Given the description of an element on the screen output the (x, y) to click on. 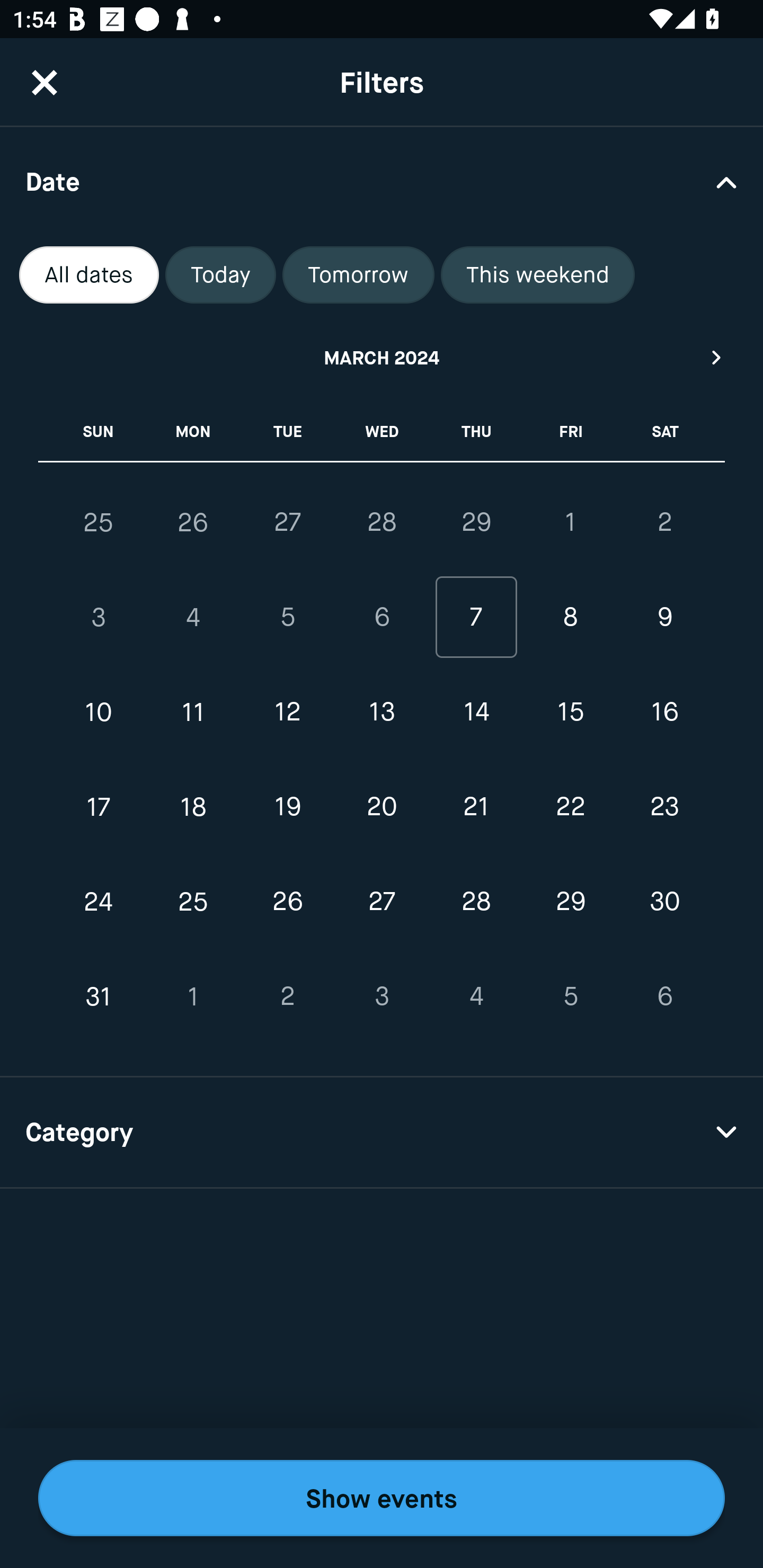
CloseButton (44, 82)
Date Drop Down Arrow (381, 181)
All dates (88, 274)
Today (220, 274)
Tomorrow (358, 274)
This weekend (537, 274)
Next (717, 357)
25 (98, 522)
26 (192, 522)
27 (287, 522)
28 (381, 522)
29 (475, 522)
1 (570, 522)
2 (664, 522)
3 (98, 617)
4 (192, 617)
5 (287, 617)
6 (381, 617)
7 (475, 617)
8 (570, 617)
9 (664, 617)
10 (98, 711)
11 (192, 711)
12 (287, 711)
13 (381, 711)
14 (475, 711)
15 (570, 711)
16 (664, 711)
17 (98, 806)
18 (192, 806)
19 (287, 806)
20 (381, 806)
21 (475, 806)
22 (570, 806)
23 (664, 806)
24 (98, 901)
25 (192, 901)
26 (287, 901)
27 (381, 901)
28 (475, 901)
29 (570, 901)
30 (664, 901)
31 (98, 996)
1 (192, 996)
2 (287, 996)
3 (381, 996)
4 (475, 996)
5 (570, 996)
6 (664, 996)
Category Drop Down Arrow (381, 1132)
Show events (381, 1497)
